Given the description of an element on the screen output the (x, y) to click on. 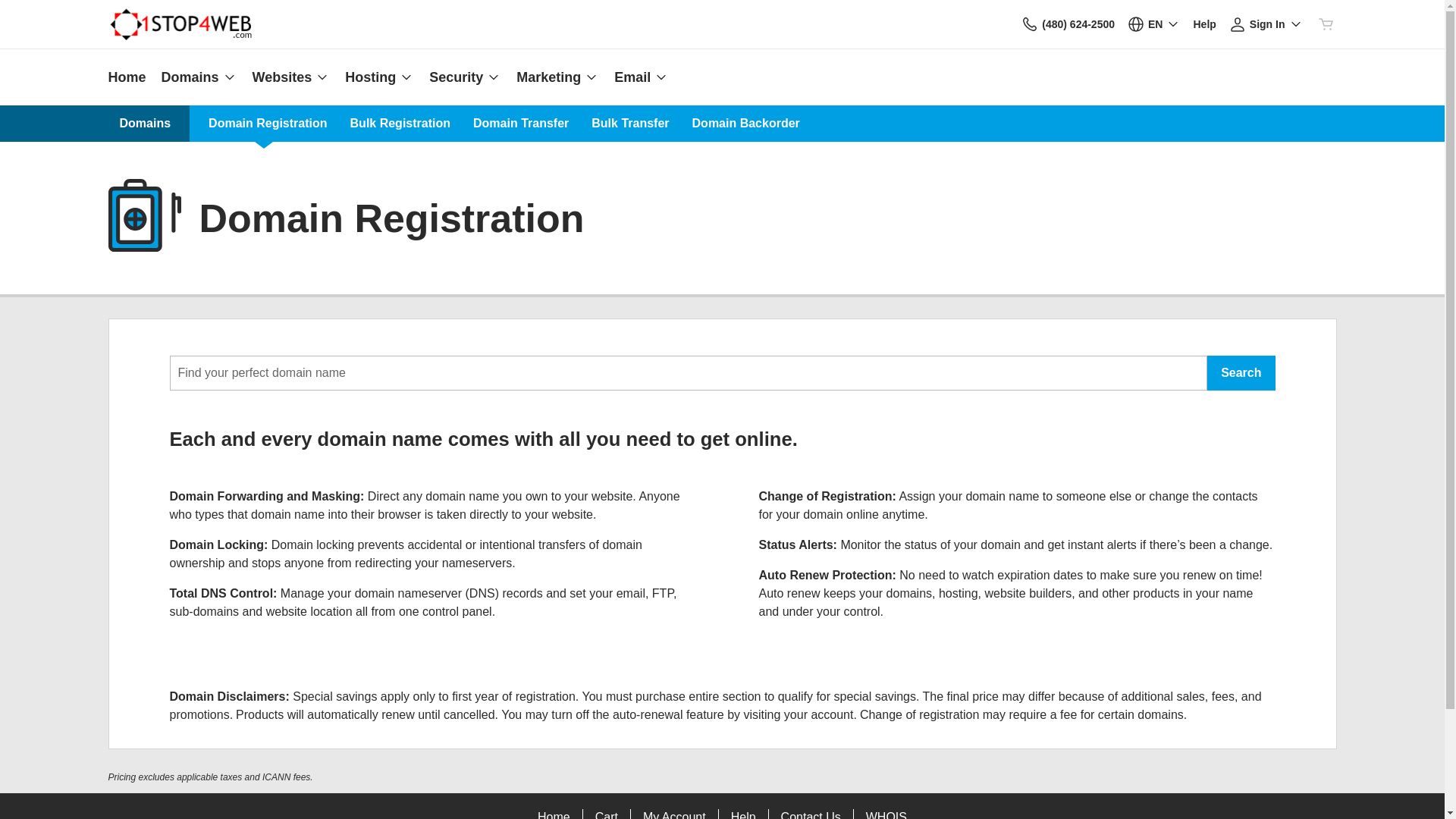
Bulk Registration Element type: text (400, 122)
Domain Backorder Element type: text (746, 122)
Domain Registration Element type: text (267, 122)
Sign In Element type: text (1265, 24)
Bulk Transfer Element type: text (629, 122)
Security Element type: text (464, 77)
Marketing Element type: text (557, 77)
Websites Element type: text (291, 77)
Help Element type: text (1203, 24)
EN Element type: text (1153, 24)
Search Element type: text (1240, 372)
(480) 624-2500 Element type: text (1067, 24)
Hosting Element type: text (379, 77)
Email Element type: text (637, 77)
Domain Transfer Element type: text (520, 122)
Home Element type: text (130, 77)
Contact Us Element type: hover (1029, 24)
Domains Element type: text (198, 77)
